Given the description of an element on the screen output the (x, y) to click on. 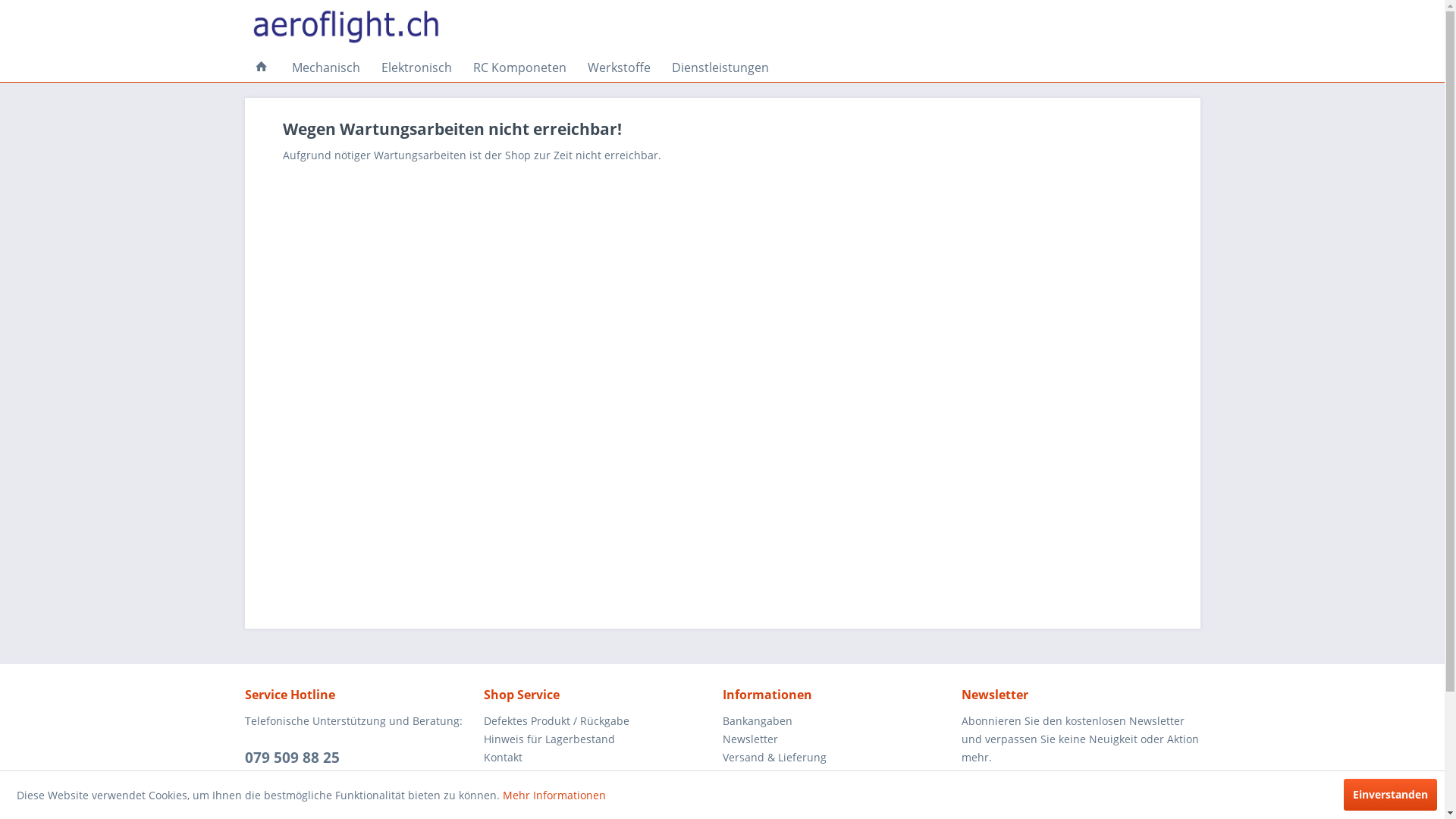
Versand & Lieferung Element type: text (837, 757)
Bankangaben Element type: text (837, 721)
Dienstleistungen Element type: text (720, 67)
Elektronisch Element type: text (415, 67)
Newsletter Element type: text (837, 739)
Werkstoffe Element type: text (618, 67)
Einverstanden Element type: text (1390, 794)
Mechanisch Element type: text (325, 67)
Mehr Informationen Element type: text (553, 794)
079 509 88 25 Element type: text (291, 757)
Willkommen bei aeroflight.ch - zur Startseite wechseln Element type: hover (345, 26)
Kontakt Element type: text (599, 757)
Impressum Element type: text (837, 774)
Home Element type: hover (260, 67)
AGB Element type: text (599, 774)
RC Komponeten Element type: text (519, 67)
